Given the description of an element on the screen output the (x, y) to click on. 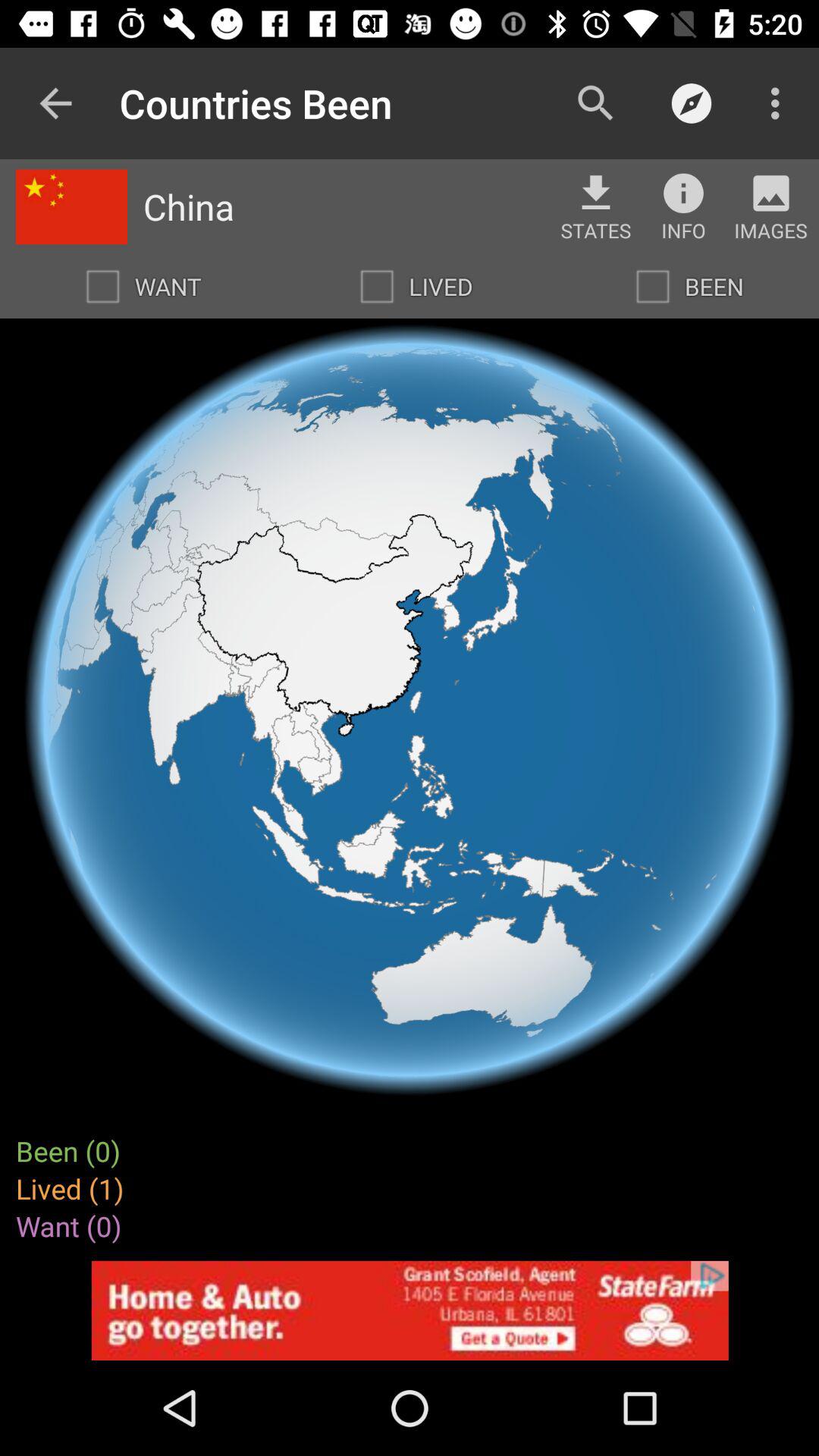
more information (683, 193)
